Given the description of an element on the screen output the (x, y) to click on. 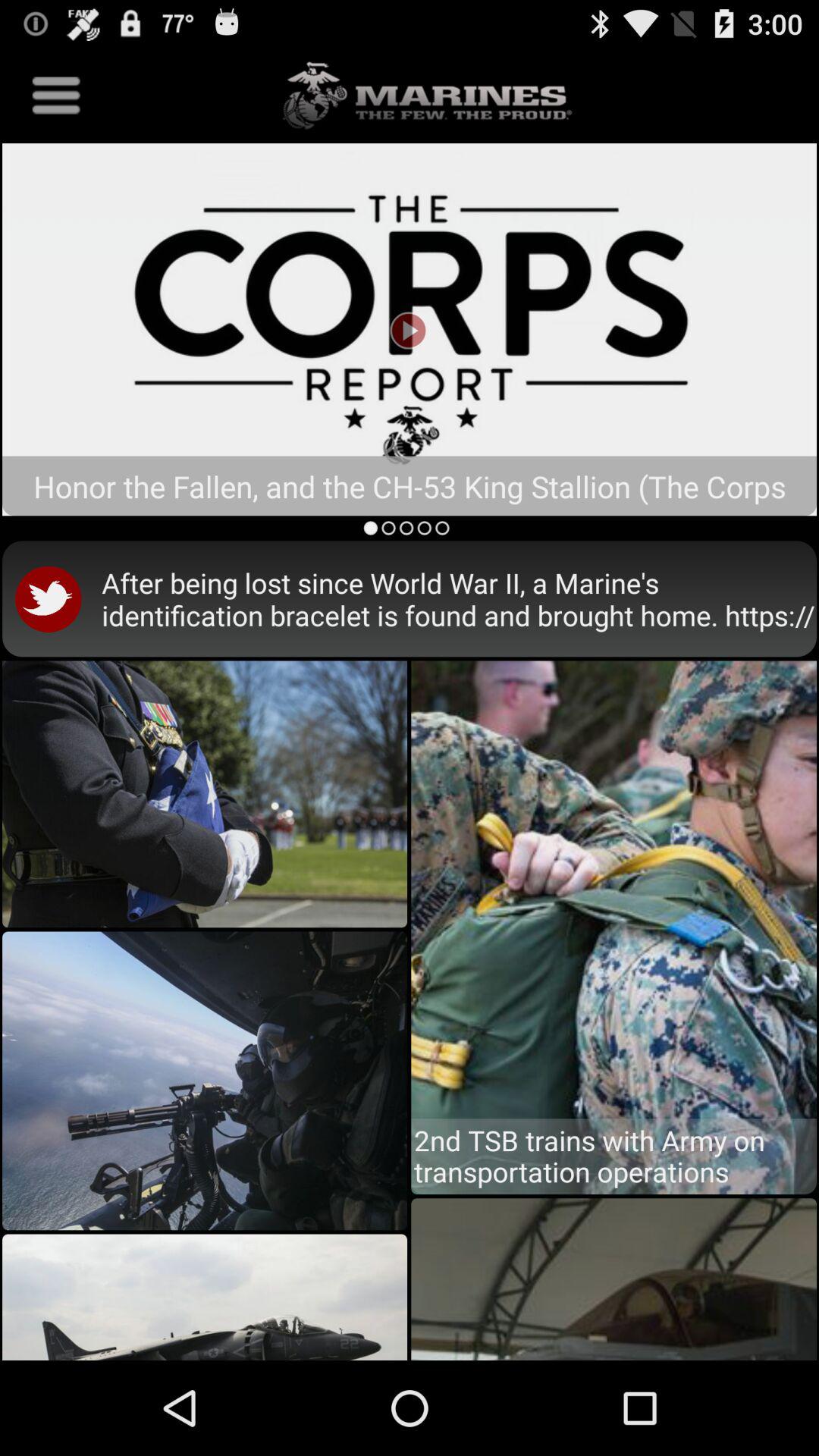
play the video (409, 329)
